Given the description of an element on the screen output the (x, y) to click on. 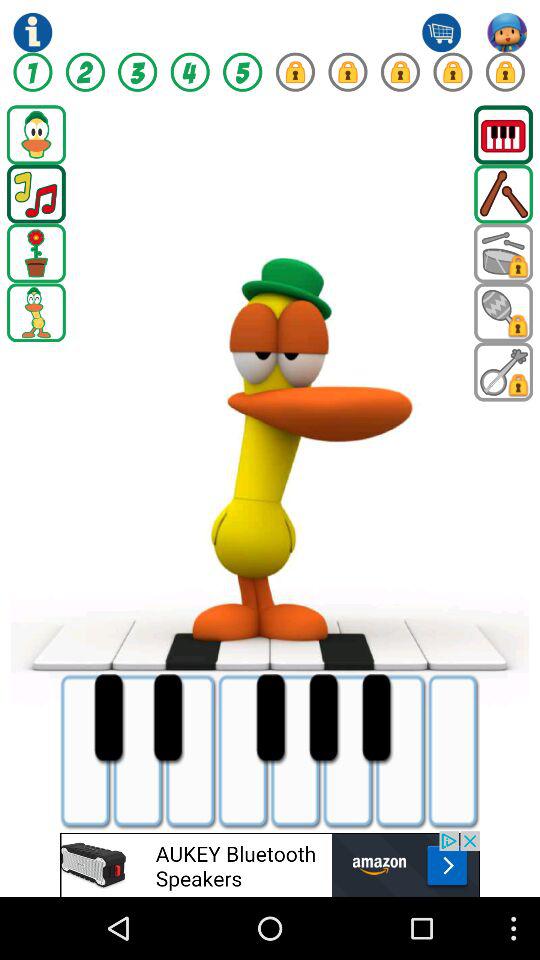
informations (32, 32)
